Given the description of an element on the screen output the (x, y) to click on. 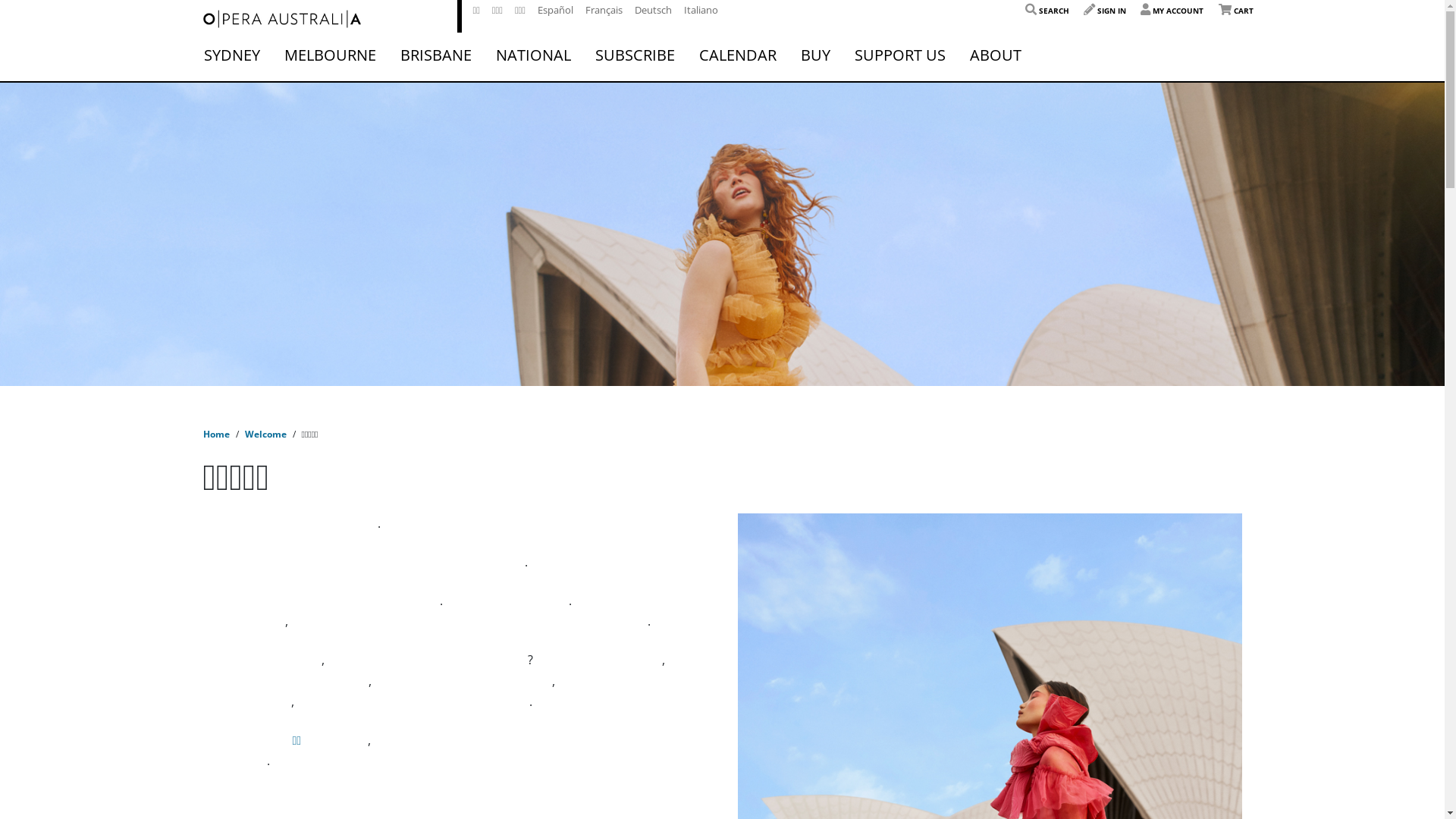
SUPPORT US Element type: text (898, 54)
MY ACCOUNT Element type: text (1171, 10)
SYDNEY Element type: text (231, 54)
Italiano Element type: text (701, 9)
ABOUT Element type: text (994, 54)
CART Element type: text (1234, 10)
BRISBANE Element type: text (435, 54)
Welcome Element type: text (264, 433)
CALENDAR Element type: text (737, 54)
SUBSCRIBE Element type: text (634, 54)
Deutsch Element type: text (652, 9)
BUY Element type: text (815, 54)
MELBOURNE Element type: text (329, 54)
SIGN IN Element type: text (1104, 10)
Home Element type: text (216, 433)
SEARCH Element type: text (1047, 10)
NATIONAL Element type: text (533, 54)
